Given the description of an element on the screen output the (x, y) to click on. 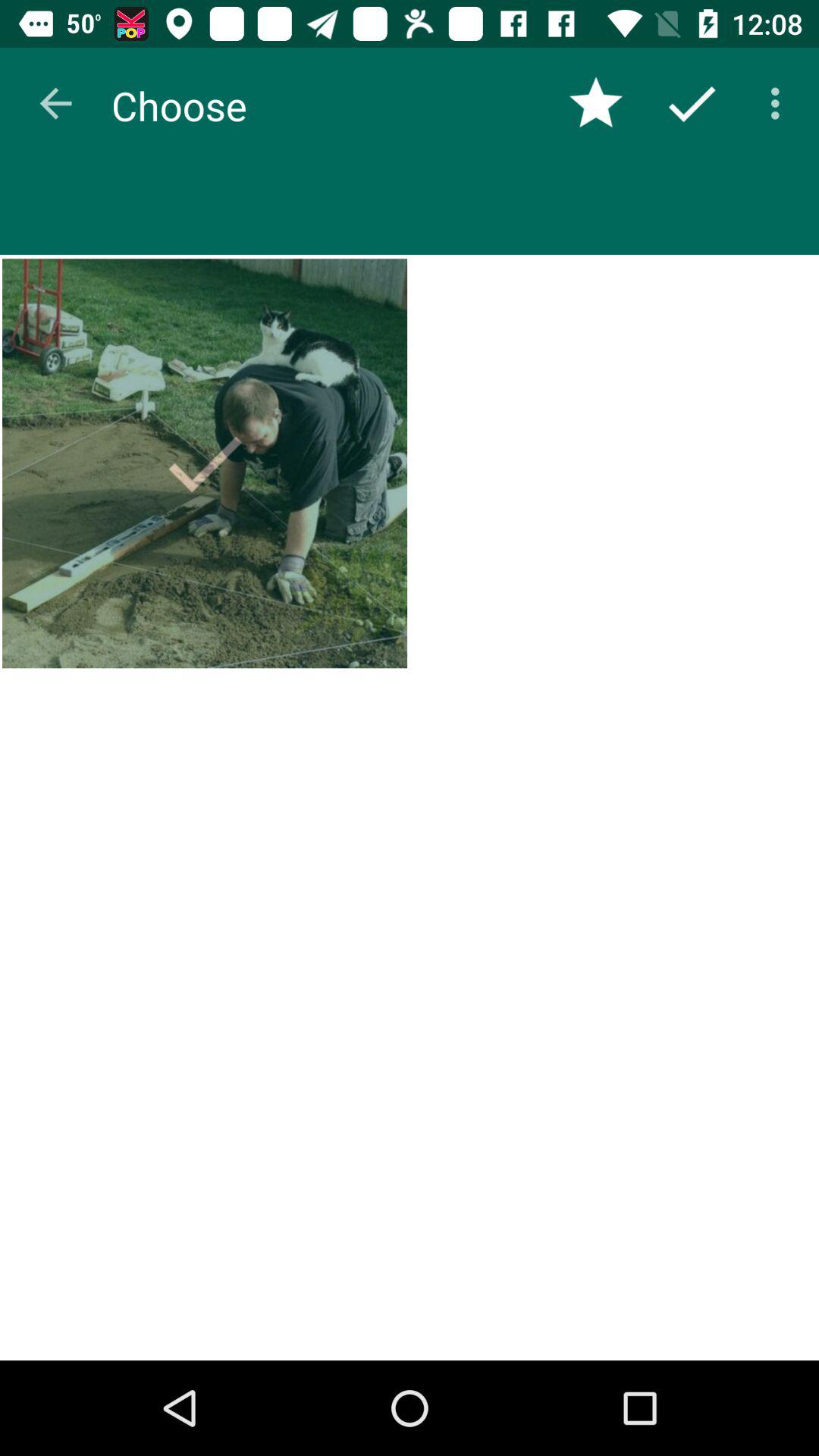
tap the icon next to choose (55, 103)
